Given the description of an element on the screen output the (x, y) to click on. 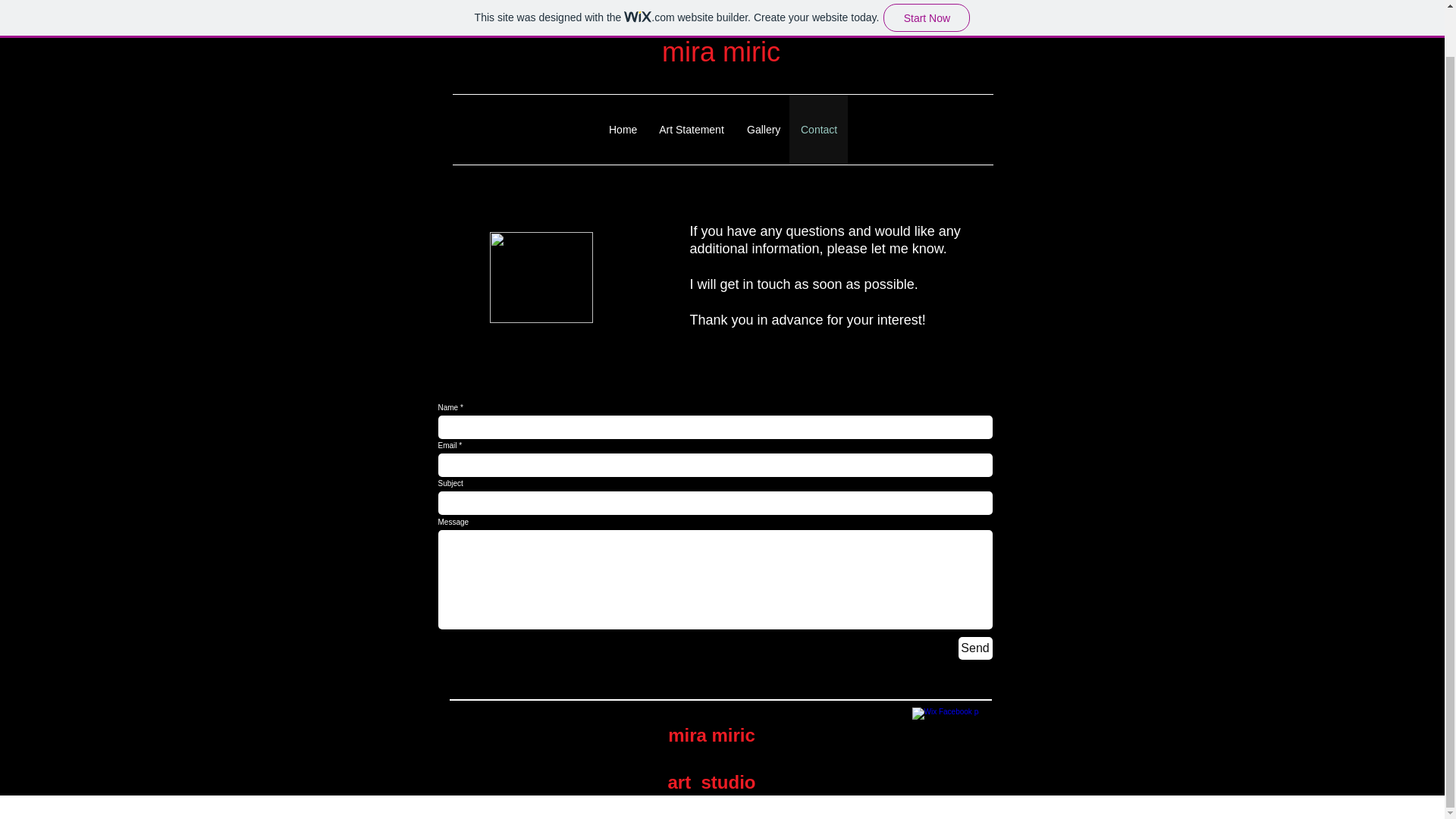
Contact (818, 129)
Send (975, 648)
Home (621, 129)
Art Statement (691, 129)
Gallery (762, 129)
